Given the description of an element on the screen output the (x, y) to click on. 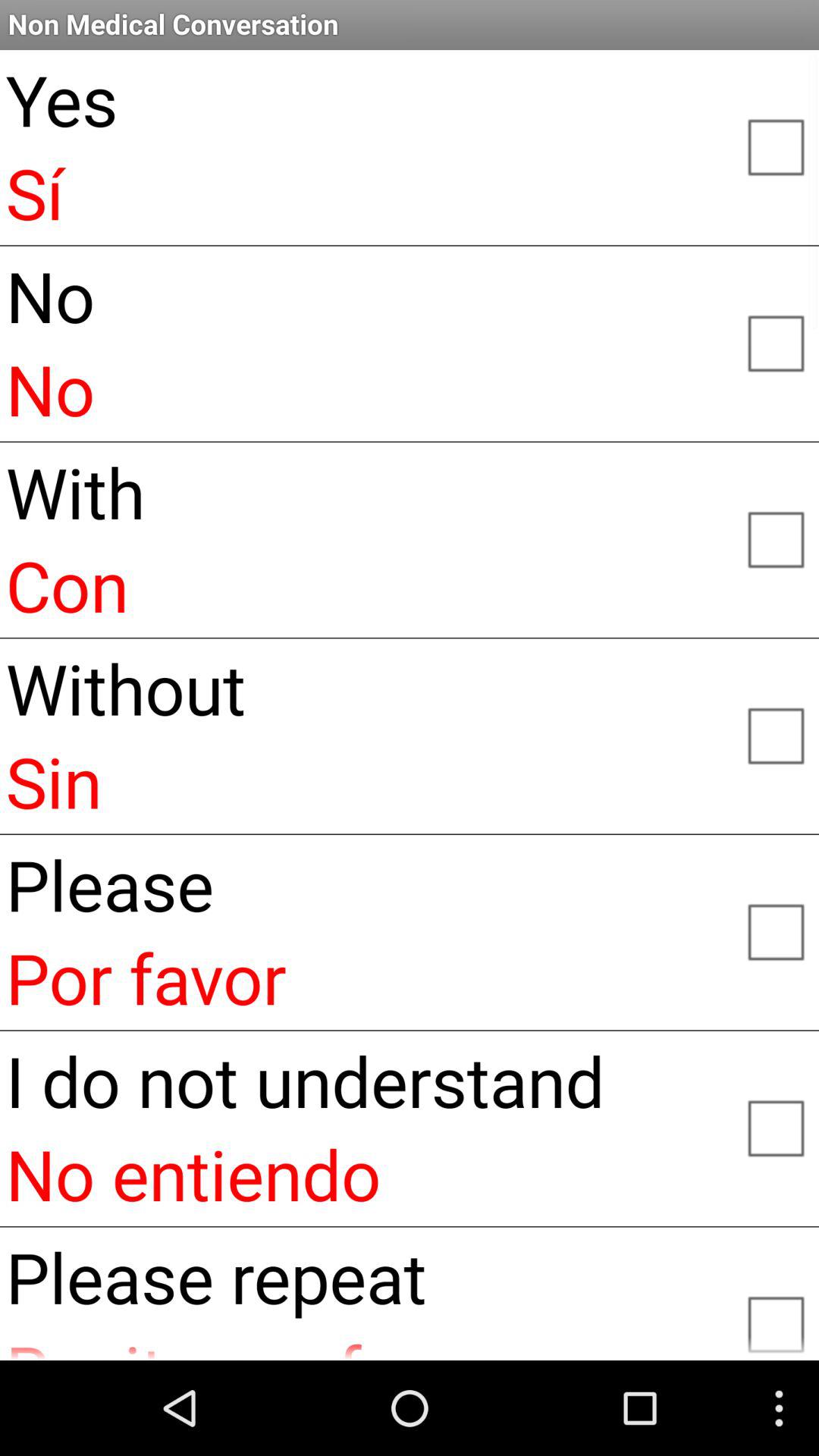
without (775, 734)
